Given the description of an element on the screen output the (x, y) to click on. 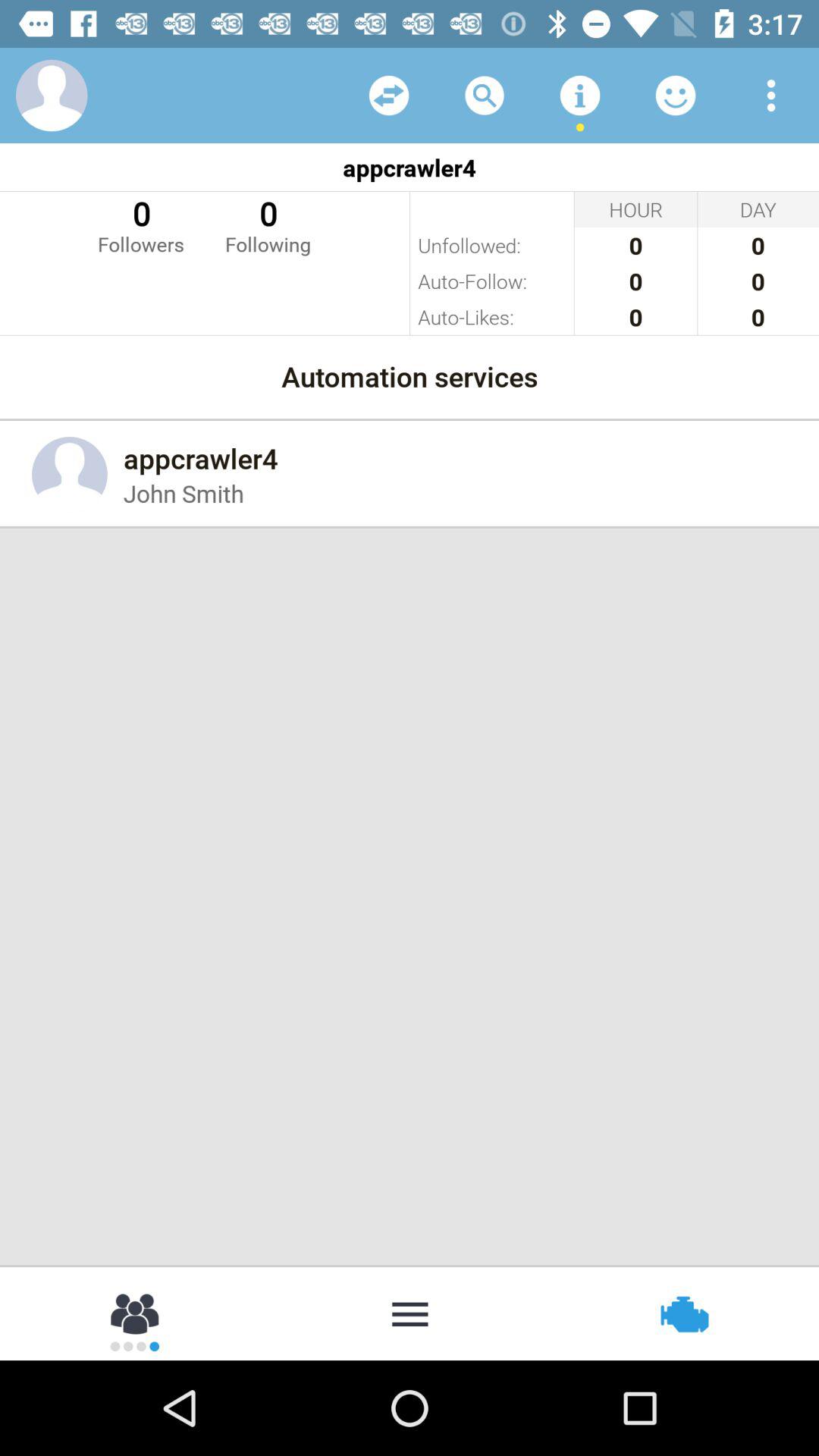
more tools (579, 95)
